Given the description of an element on the screen output the (x, y) to click on. 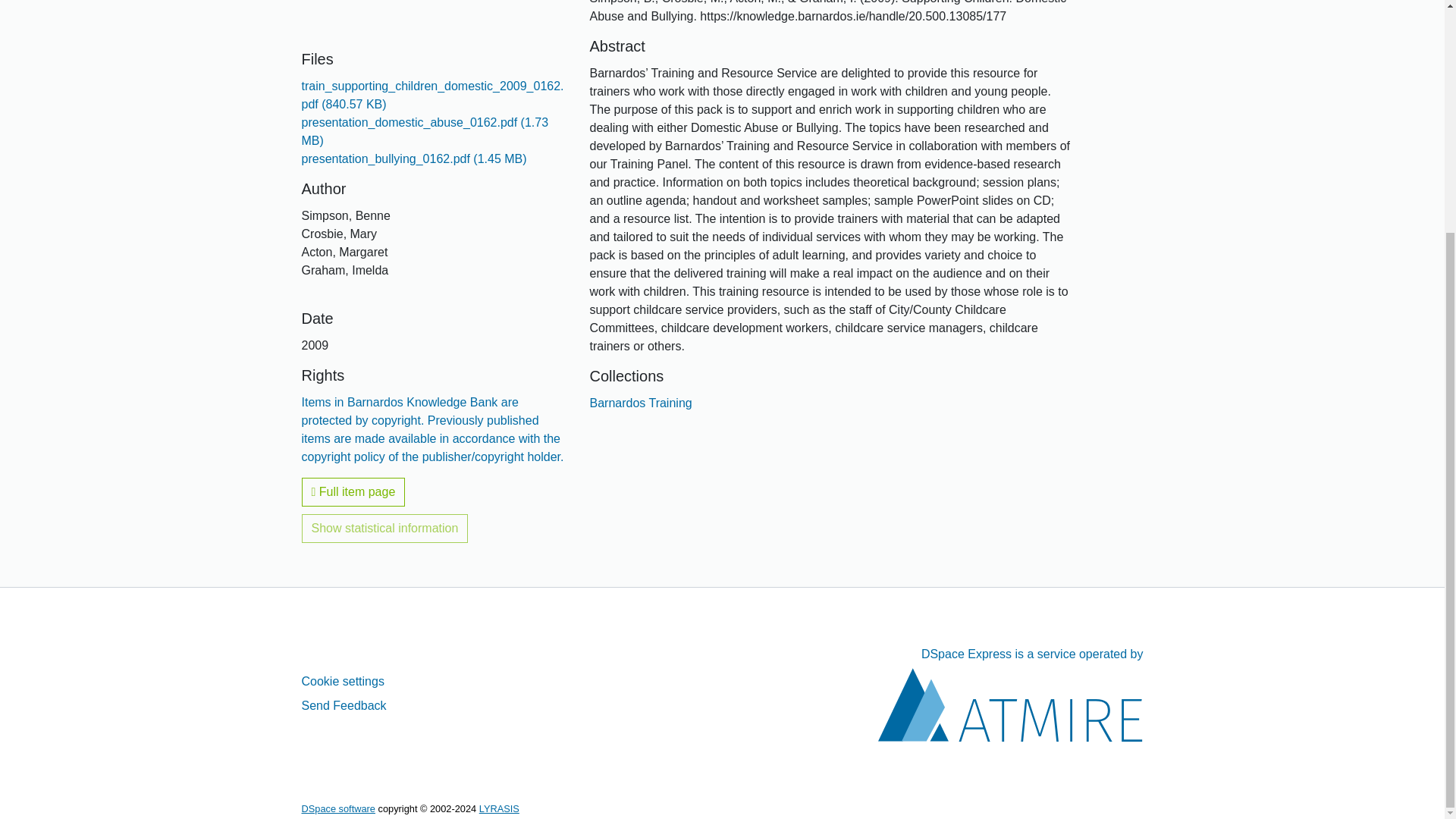
Full item page (353, 491)
LYRASIS (499, 808)
Show statistical information (384, 528)
Cookie settings (342, 680)
Barnardos Training (640, 402)
DSpace software (338, 808)
DSpace Express is a service operated by (1009, 694)
Send Feedback (344, 705)
